Given the description of an element on the screen output the (x, y) to click on. 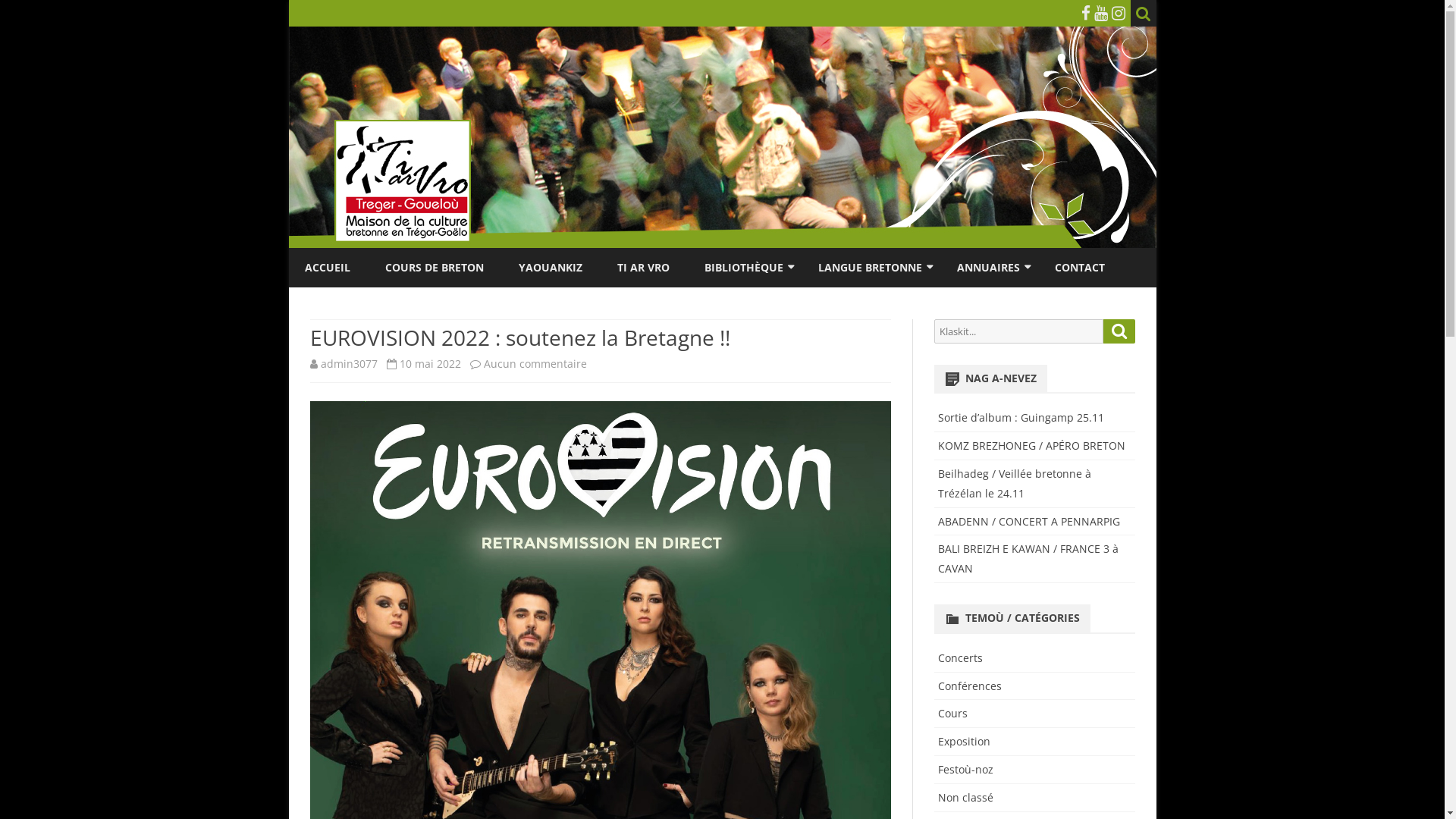
ACCUEIL Element type: text (327, 267)
ANNUAIRE ASSOCIATIONS Element type: text (1032, 302)
Concerts Element type: text (960, 657)
LANGUE BRETONNE Element type: text (869, 267)
Facebook Element type: hover (1085, 12)
ABADENN / CONCERT A PENNARPIG Element type: text (1029, 521)
TI AR VRO Element type: text (643, 267)
Search for: Element type: hover (1018, 331)
Instagram Element type: hover (1118, 12)
CONTACT Element type: text (1079, 267)
ANNUAIRES Element type: text (988, 267)
Skip to content Element type: text (721, 247)
YouTube Element type: hover (1100, 12)
Exposition Element type: text (964, 741)
Search Element type: text (1118, 331)
YAOUANKIZ Element type: text (550, 267)
COURS DE BRETON Element type: text (434, 267)
Cours Element type: text (952, 713)
admin3077 Element type: text (348, 363)
EXPOSITIONS Element type: text (779, 302)
